Given the description of an element on the screen output the (x, y) to click on. 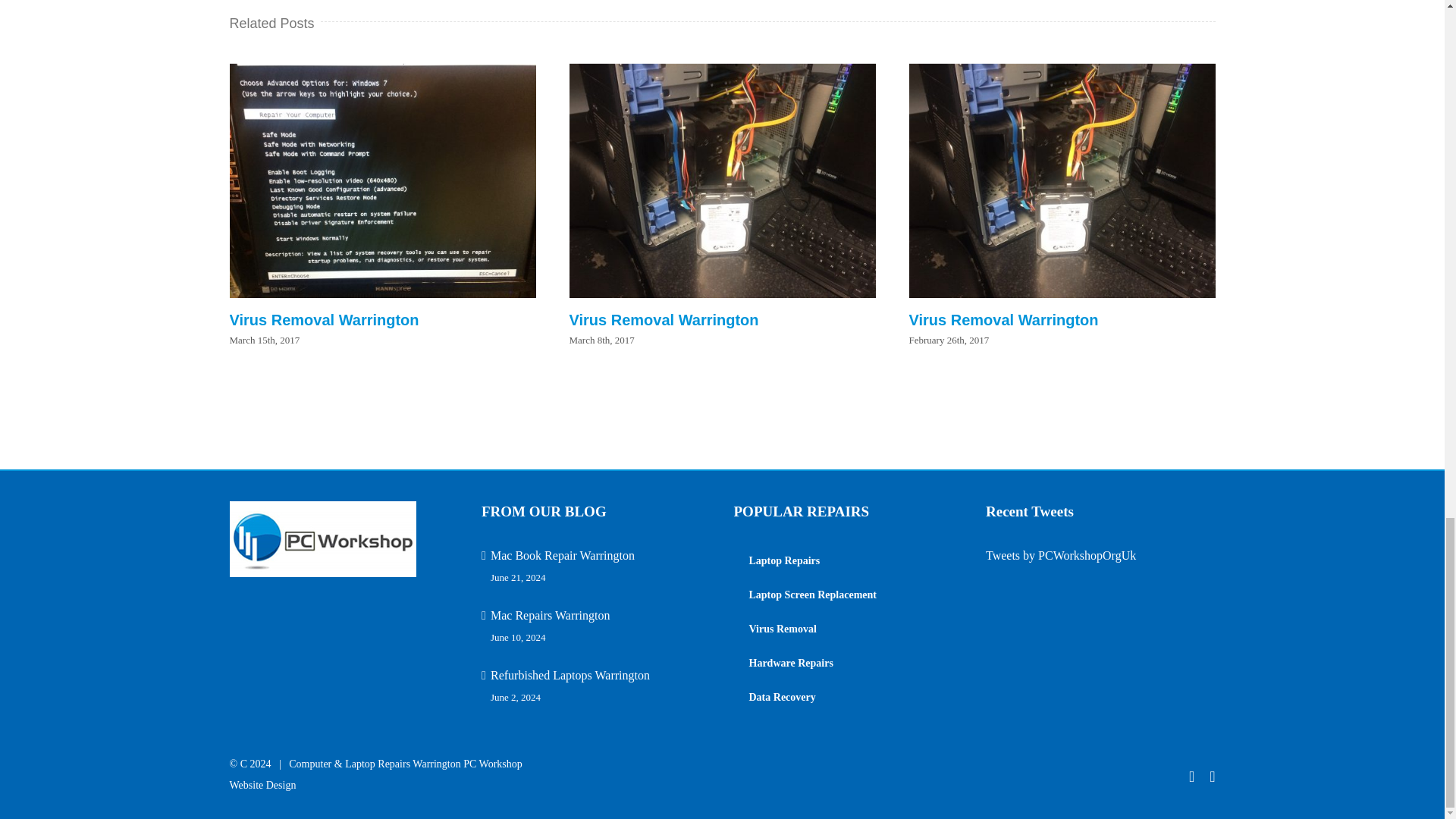
Virus Removal Warrington (1002, 320)
Virus Removal Warrington (663, 320)
Virus Removal Warrington (323, 320)
